Given the description of an element on the screen output the (x, y) to click on. 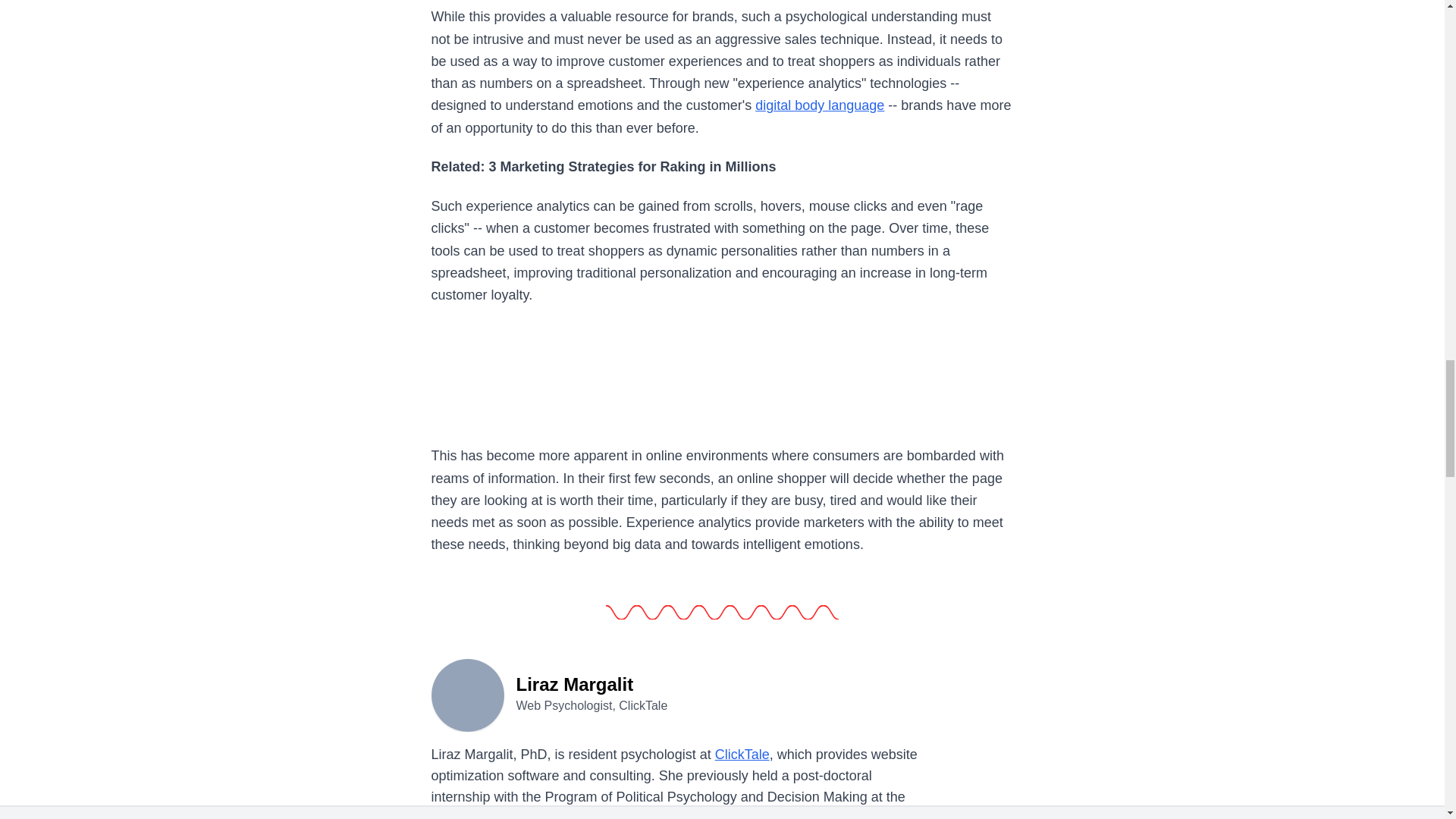
Liraz Margalit (466, 694)
